Given the description of an element on the screen output the (x, y) to click on. 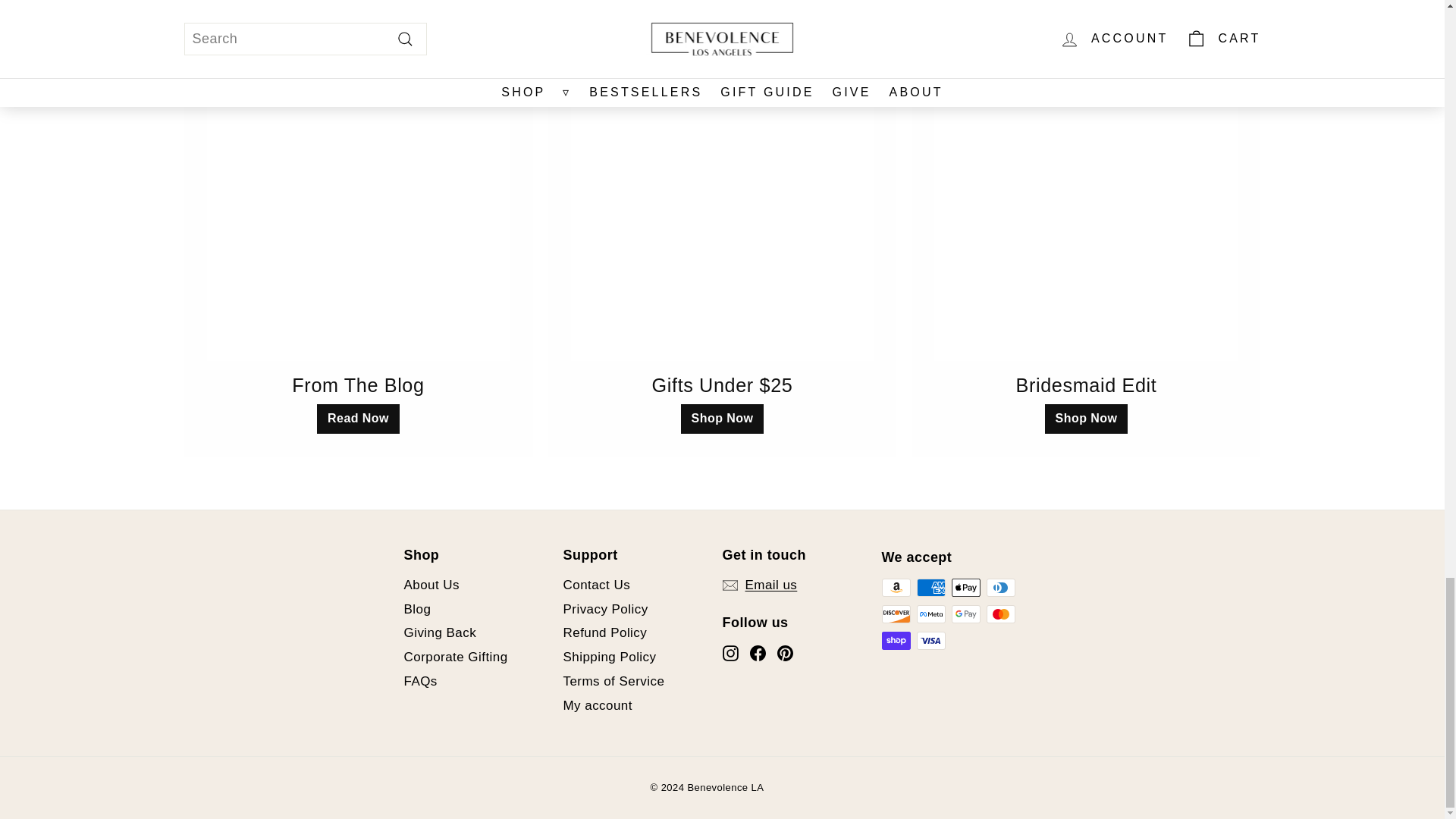
Diners Club (999, 587)
American Express (929, 587)
Apple Pay (964, 587)
instagram (730, 652)
Amazon (895, 587)
